Given the description of an element on the screen output the (x, y) to click on. 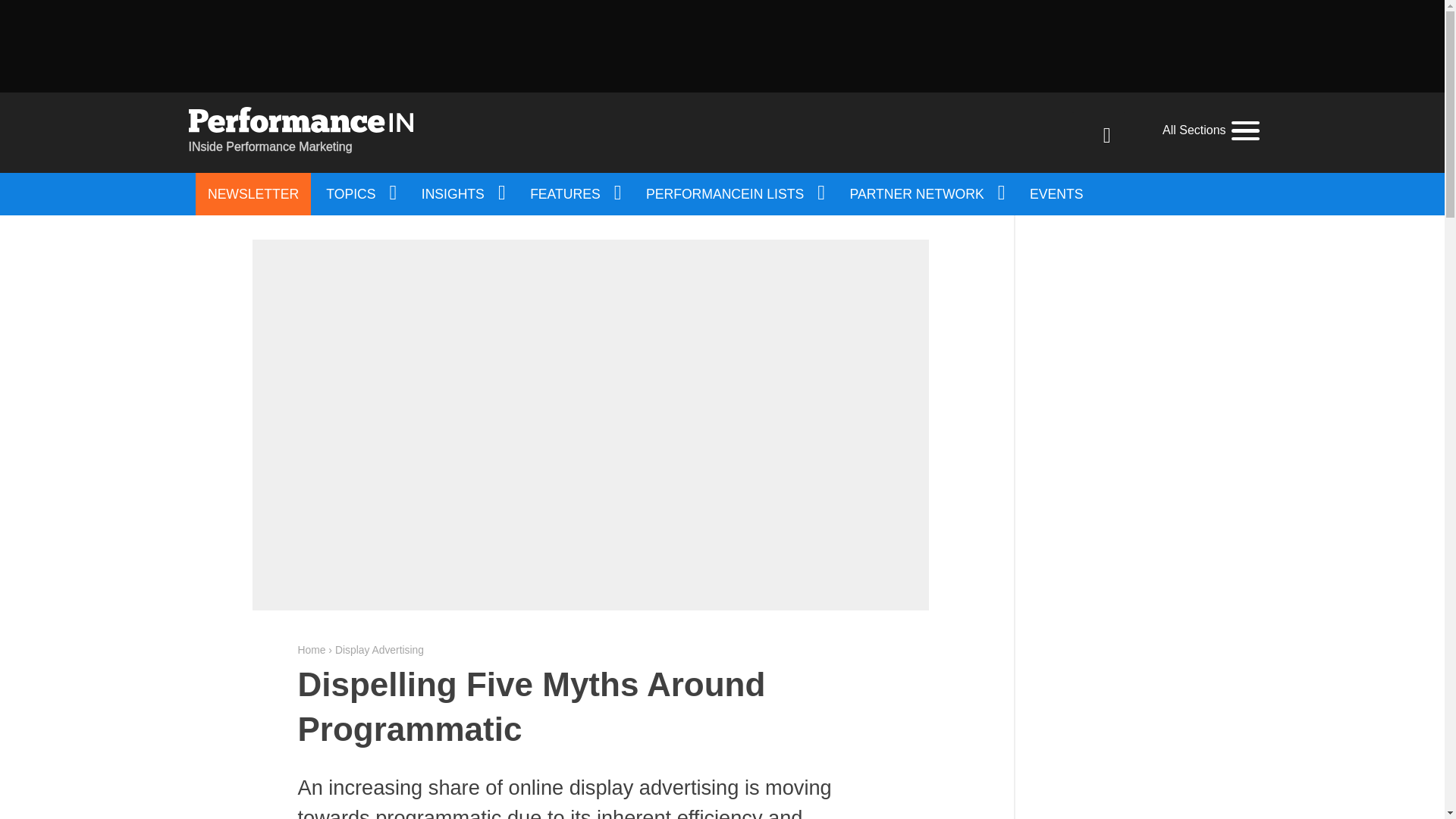
PERFORMANCEIN LISTS (733, 193)
EVENTS (1055, 193)
PARTNER NETWORK (926, 193)
NEWSLETTER (253, 193)
INSIGHTS (462, 193)
FEATURES (574, 193)
All Sections (1210, 130)
TOPICS (360, 193)
INside Performance Marketing (299, 131)
